Given the description of an element on the screen output the (x, y) to click on. 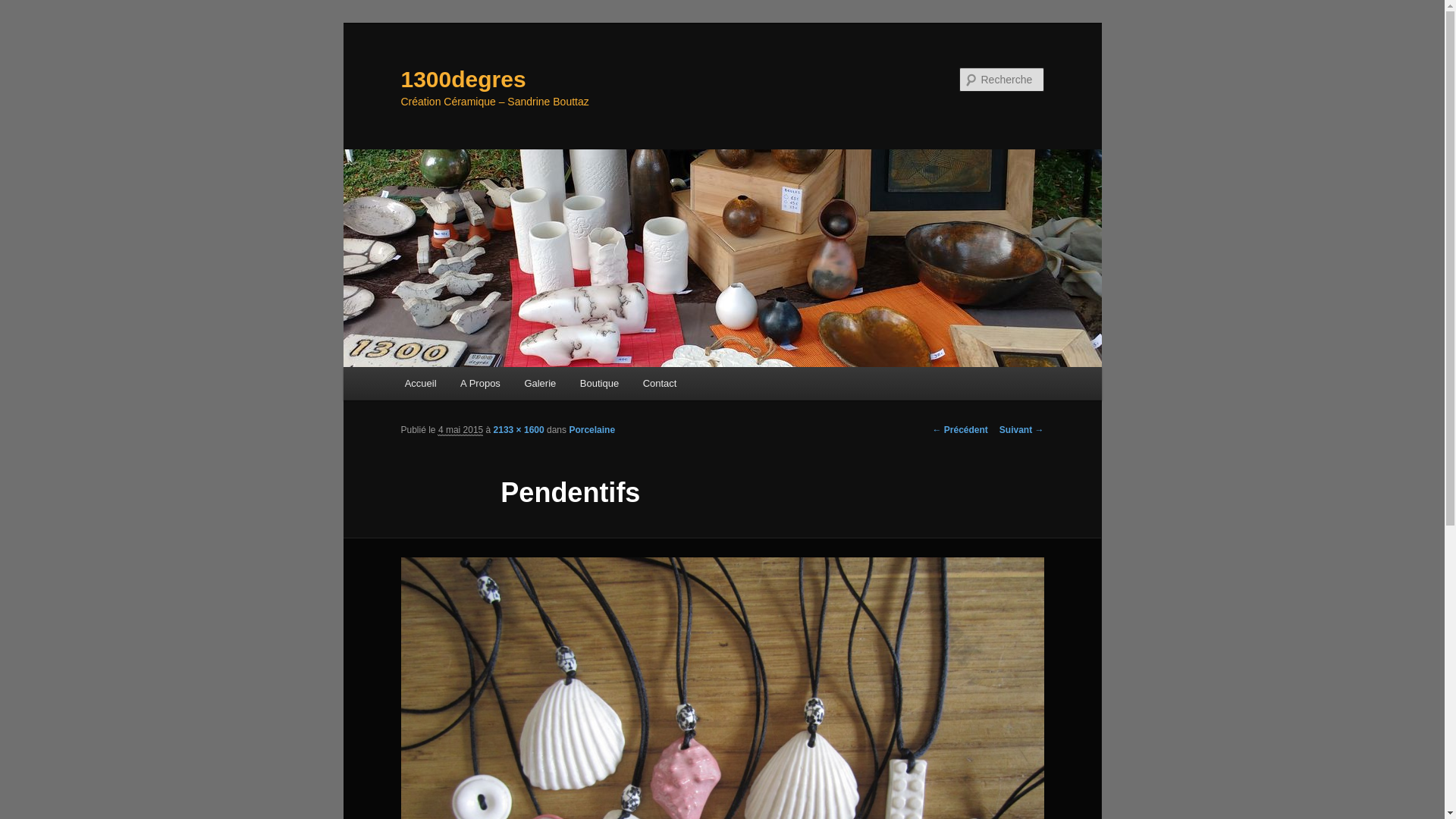
Contact Element type: text (659, 383)
Recherche Element type: text (33, 8)
Porcelaine Element type: text (591, 429)
1300degres Element type: text (462, 78)
Boutique Element type: text (598, 383)
Accueil Element type: text (420, 383)
A Propos Element type: text (479, 383)
Galerie Element type: text (539, 383)
Aller au contenu principal Element type: text (477, 385)
